Given the description of an element on the screen output the (x, y) to click on. 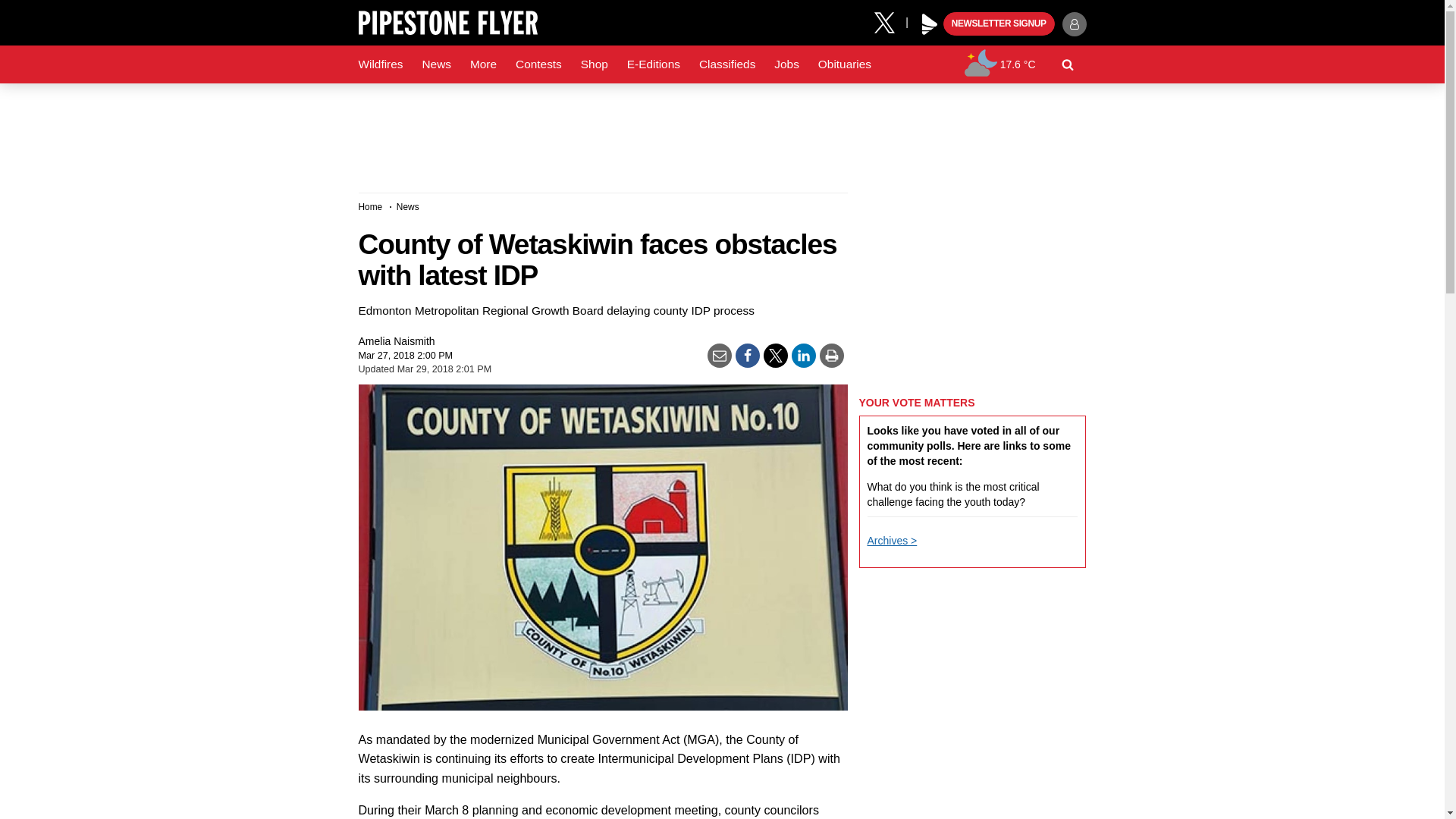
News (435, 64)
Black Press Media (929, 24)
X (889, 21)
Wildfires (380, 64)
NEWSLETTER SIGNUP (998, 24)
Play (929, 24)
